Given the description of an element on the screen output the (x, y) to click on. 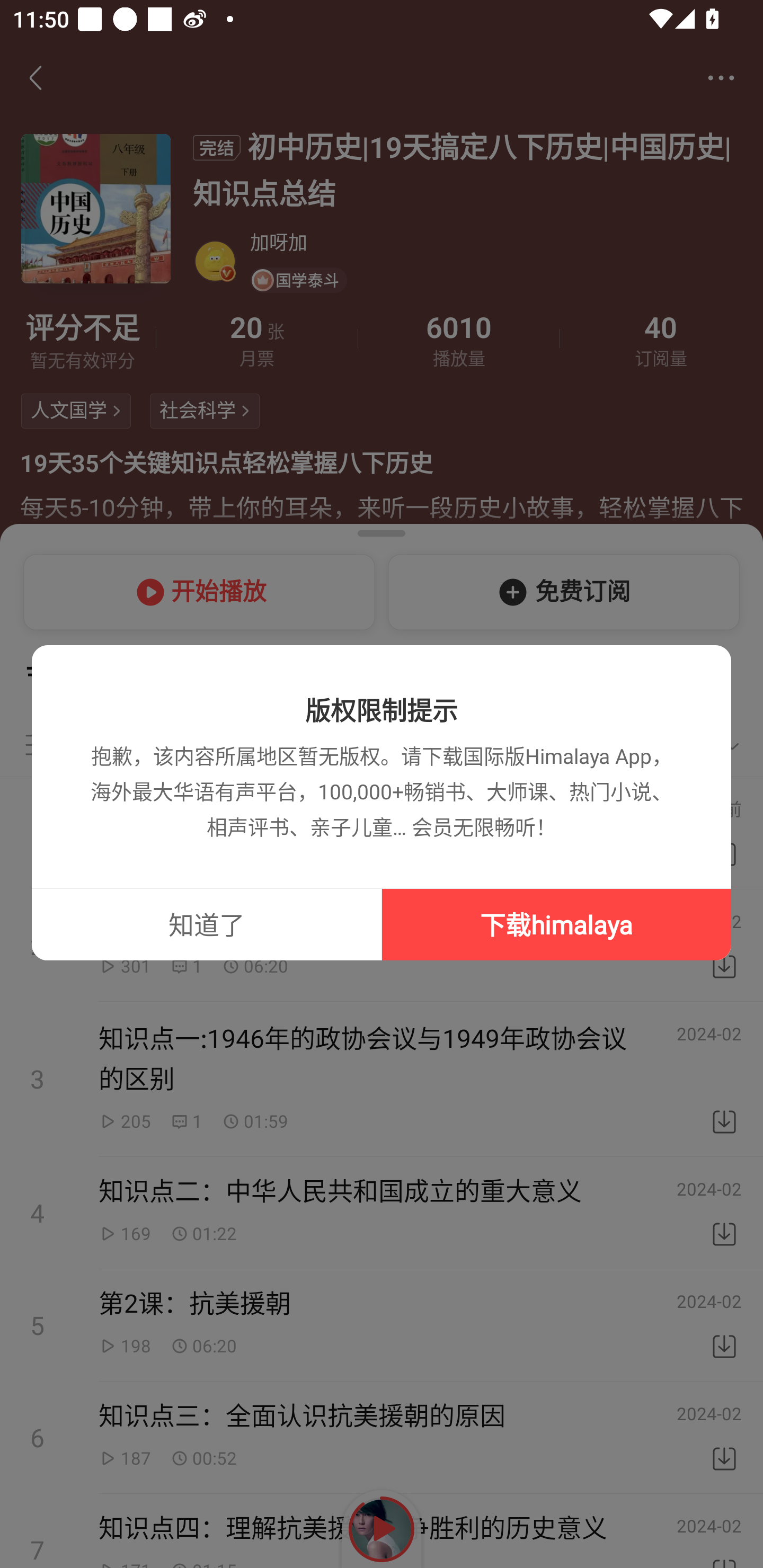
知道了 (206, 924)
下载himalaya (556, 924)
